Given the description of an element on the screen output the (x, y) to click on. 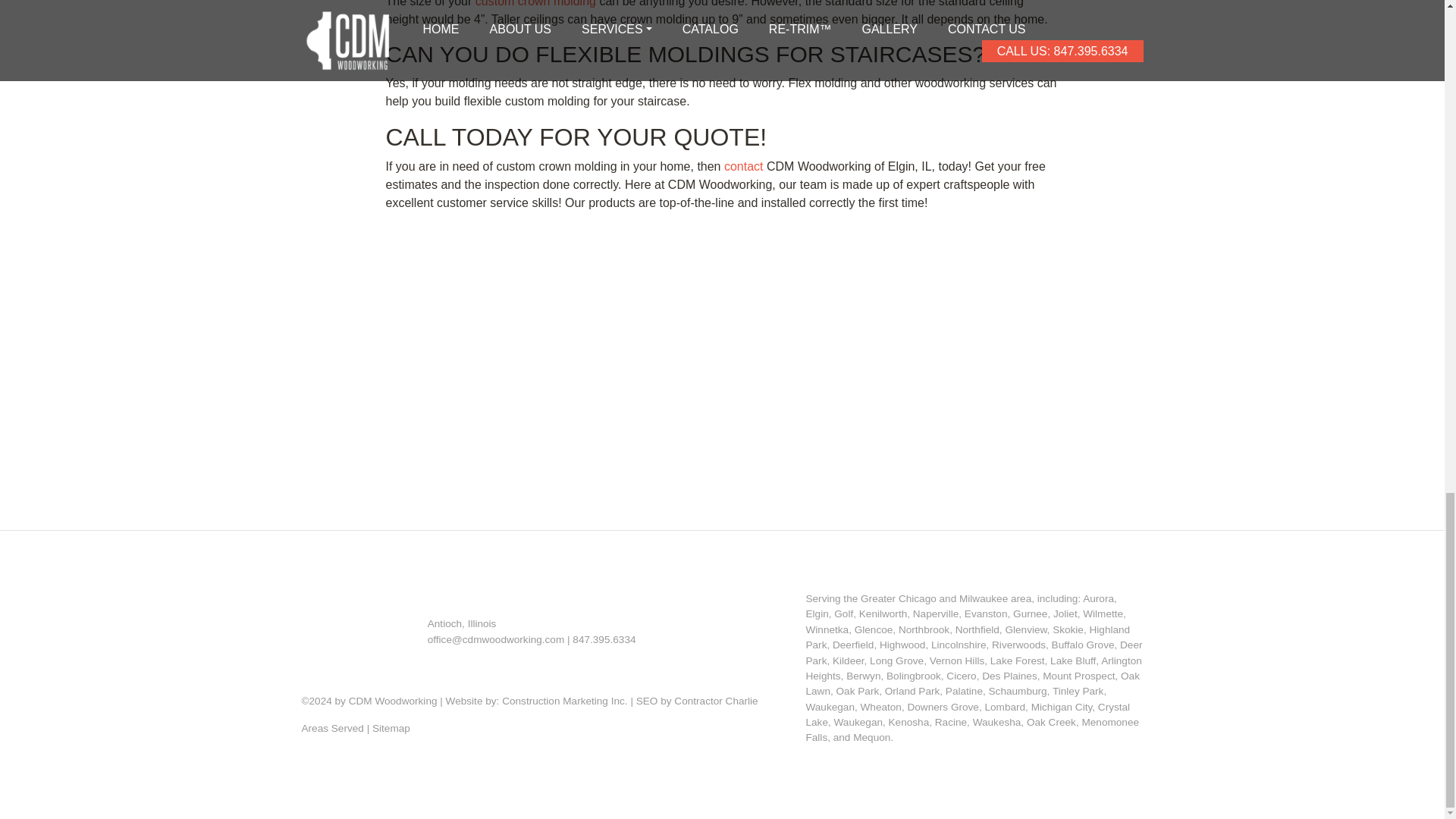
Evanston (985, 613)
Kenilworth (883, 613)
Oak Park (857, 690)
Aurora (1098, 598)
Naperville (935, 613)
Chicago (917, 598)
Gurnee (1029, 613)
Construction Marketing Inc. (564, 700)
CDM Woodworking (393, 700)
Golf (843, 613)
